Given the description of an element on the screen output the (x, y) to click on. 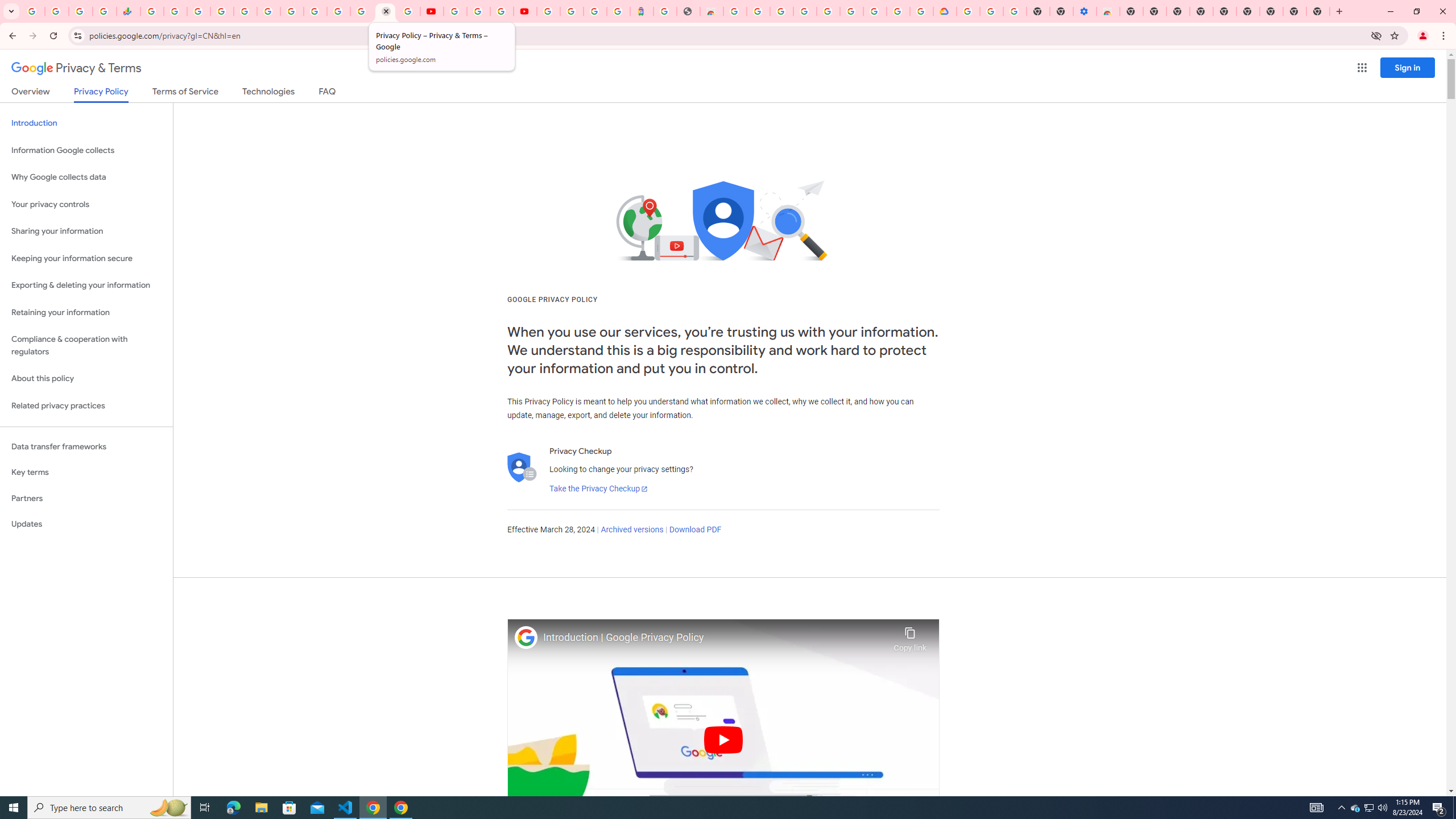
Google Account Help (478, 11)
Play (723, 739)
Privacy Checkup (408, 11)
Privacy & Terms (76, 68)
Sharing your information (86, 230)
Archived versions (631, 529)
About this policy (86, 379)
Google Workspace Admin Community (32, 11)
